Given the description of an element on the screen output the (x, y) to click on. 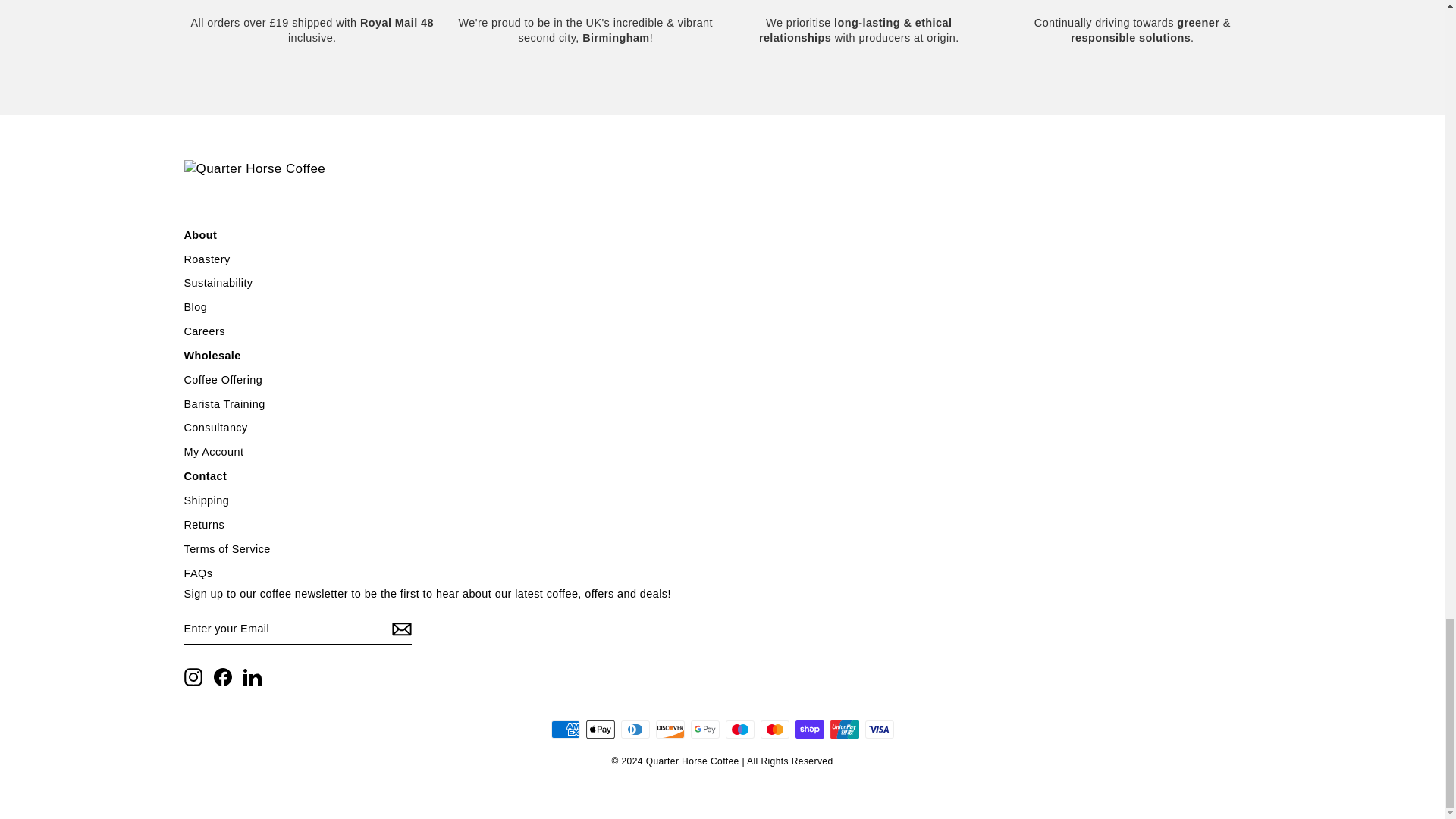
Quarter Horse Coffee on Facebook (222, 677)
American Express (564, 729)
Quarter Horse Coffee on LinkedIn (251, 677)
Quarter Horse Coffee on Instagram (192, 677)
